Given the description of an element on the screen output the (x, y) to click on. 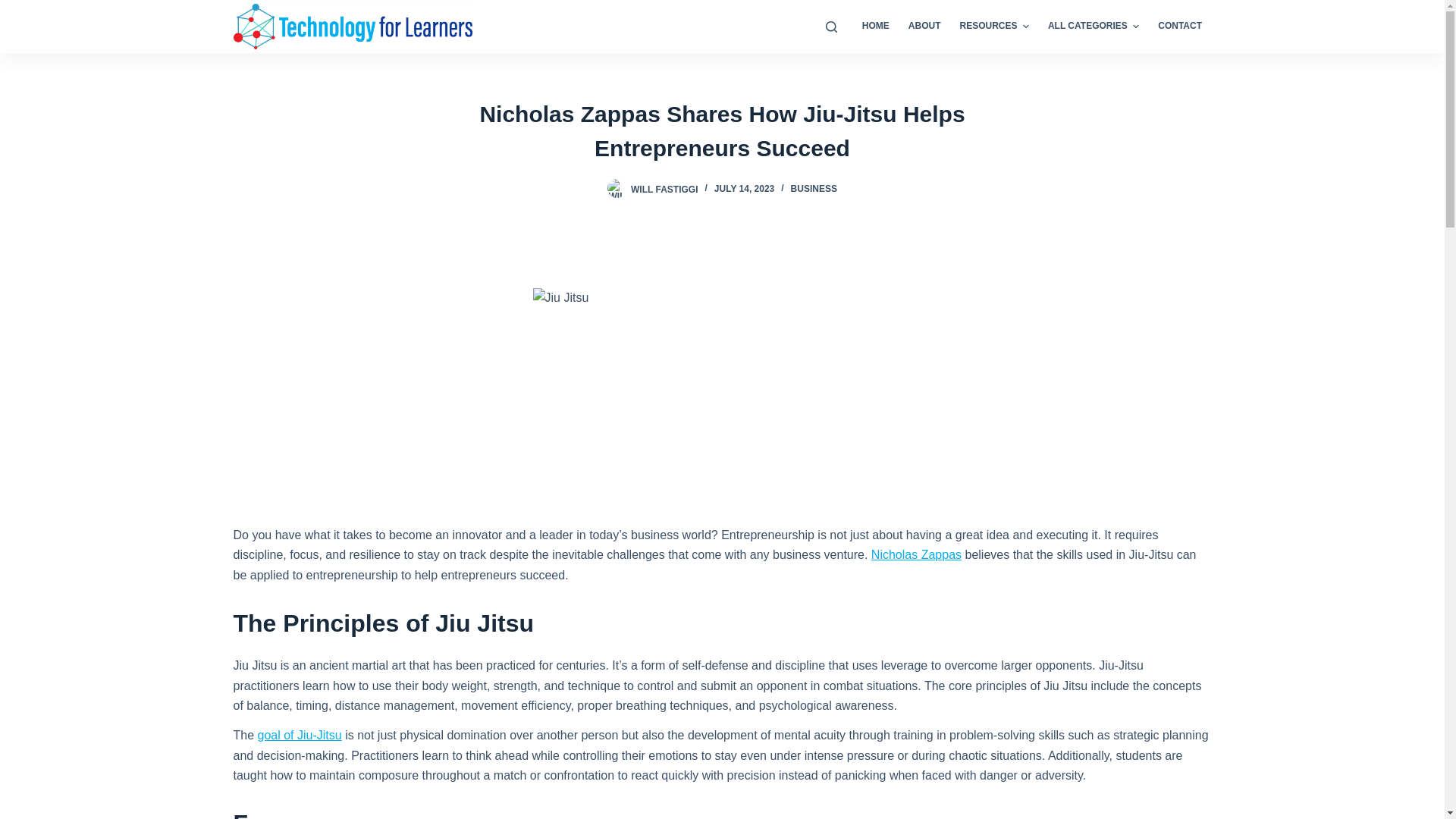
ABOUT (924, 26)
ALL CATEGORIES (1093, 26)
Skip to content (15, 7)
RESOURCES (994, 26)
Posts by Will Fastiggi (663, 188)
